Given the description of an element on the screen output the (x, y) to click on. 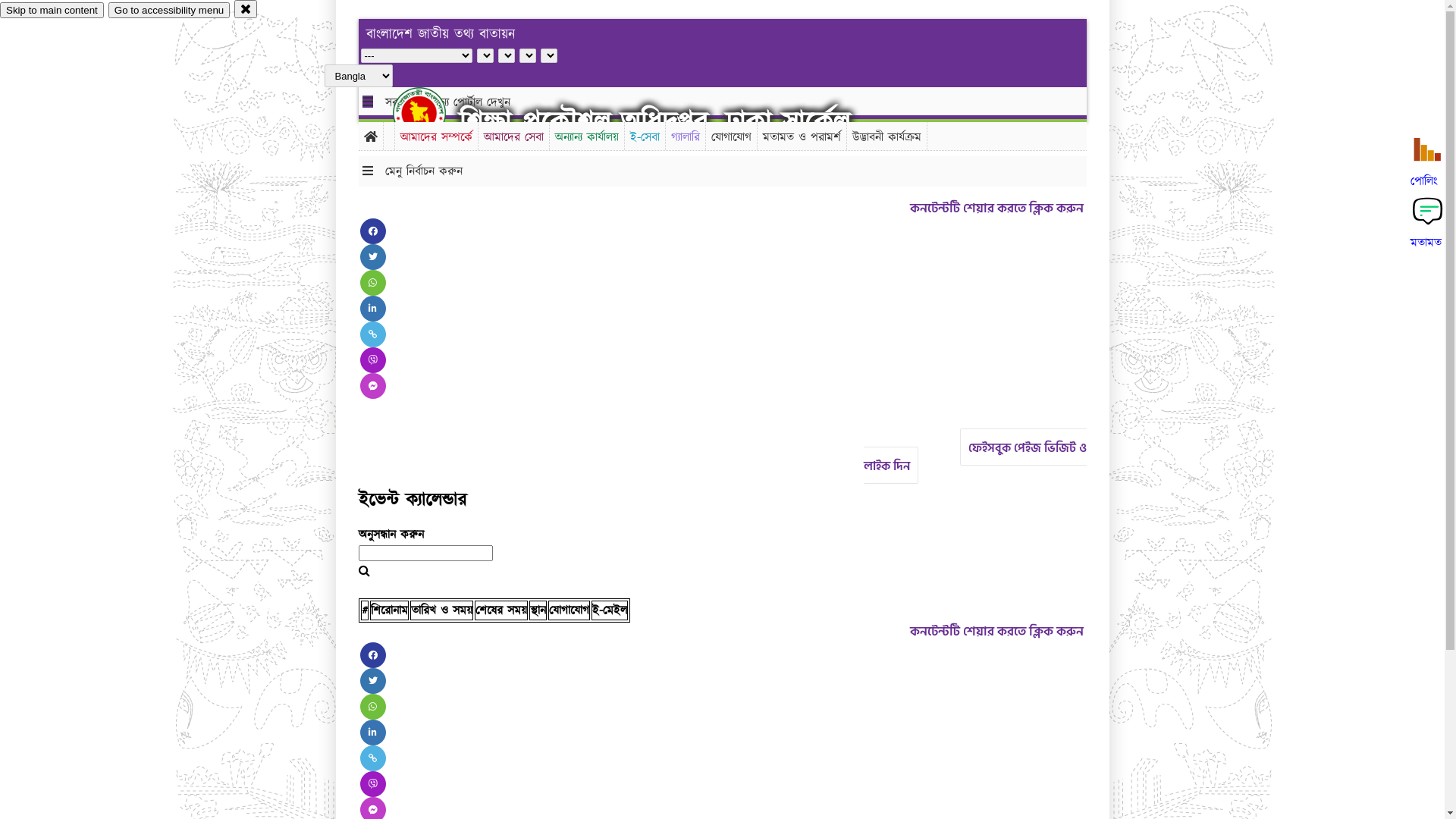
Skip to main content Element type: text (51, 10)
Go to accessibility menu Element type: text (168, 10)
close Element type: hover (245, 9)

                
             Element type: hover (431, 112)
